Given the description of an element on the screen output the (x, y) to click on. 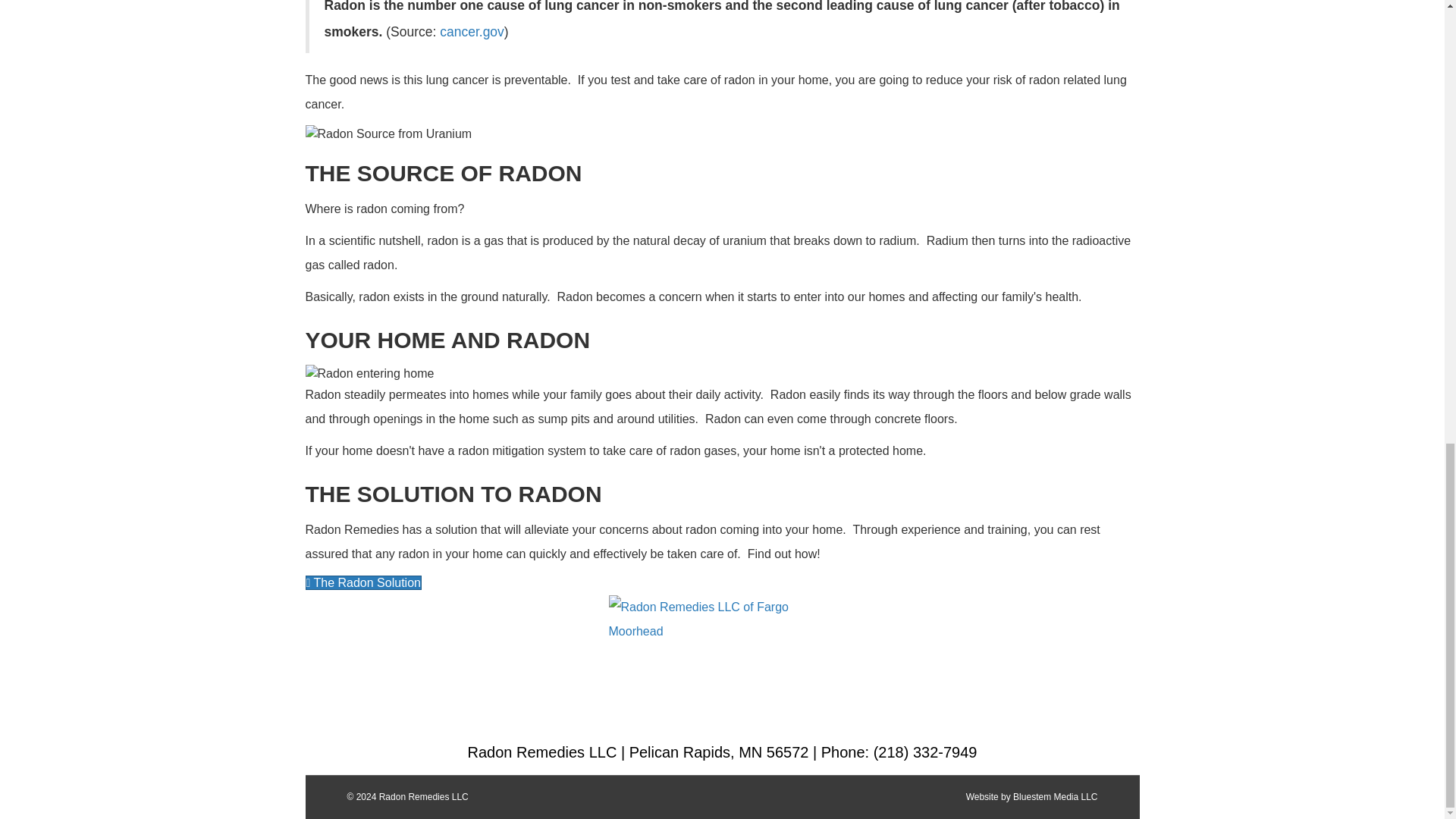
Radon Source from Uranium (387, 133)
Radon entering home (368, 373)
cancer.gov (471, 31)
Website by Bluestem Media LLC (1031, 796)
The Radon Solution (362, 582)
